Given the description of an element on the screen output the (x, y) to click on. 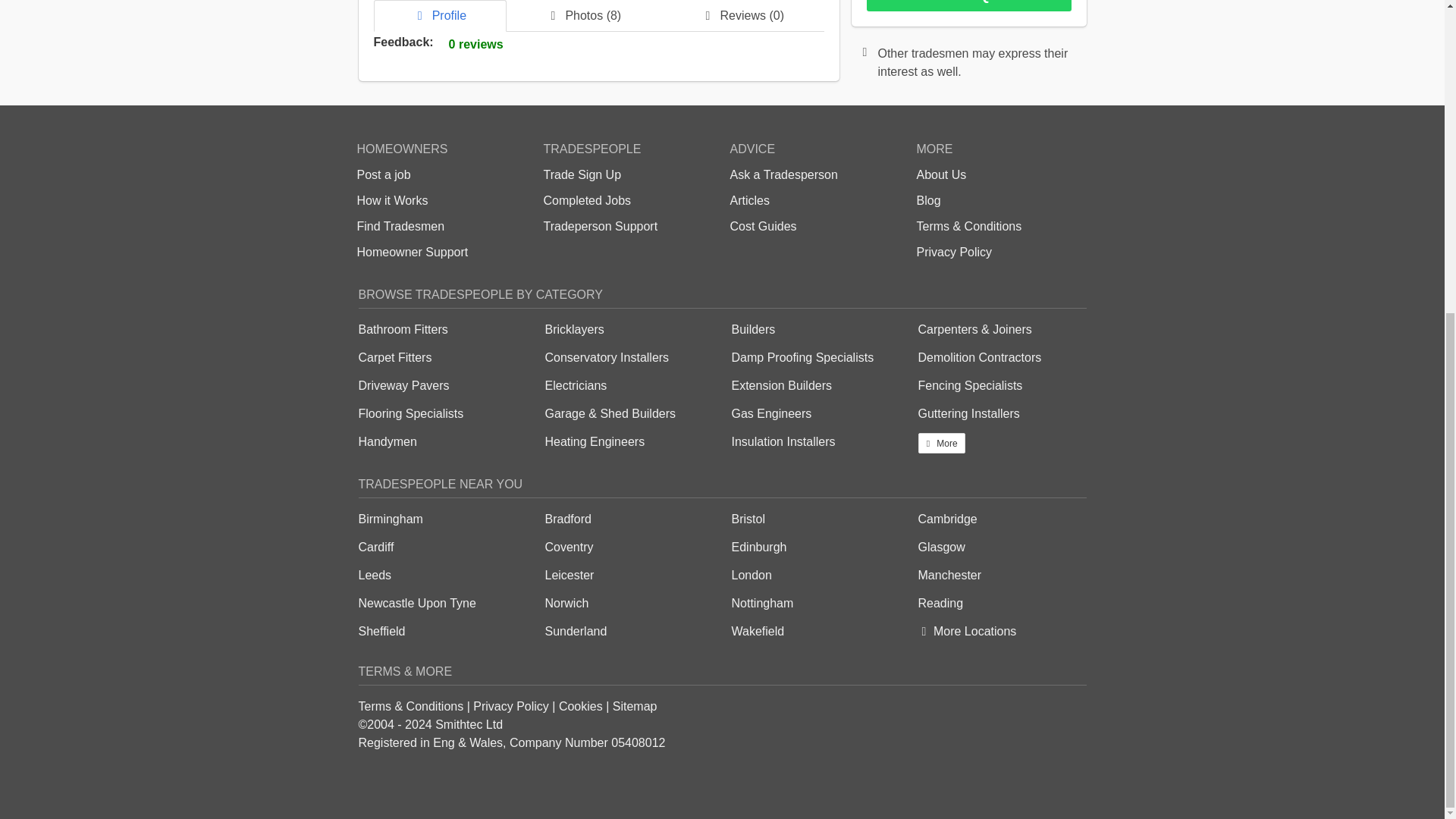
Tradeperson Support (600, 226)
Blog (927, 200)
Ask a Tradesperson (783, 174)
About Us (940, 174)
Post a job (383, 174)
How it Works (392, 200)
Browse Completed Jobs (586, 200)
Find Tradesmen (400, 226)
Browse our list of recommended tradesmen (400, 226)
Cost Guides (762, 226)
Completed Jobs (586, 200)
Homeowner Support (411, 251)
See how we can help you find the right tradesman (392, 200)
We've answered frequently asked questions by homeowners (411, 251)
Trade Sign Up (582, 174)
